Given the description of an element on the screen output the (x, y) to click on. 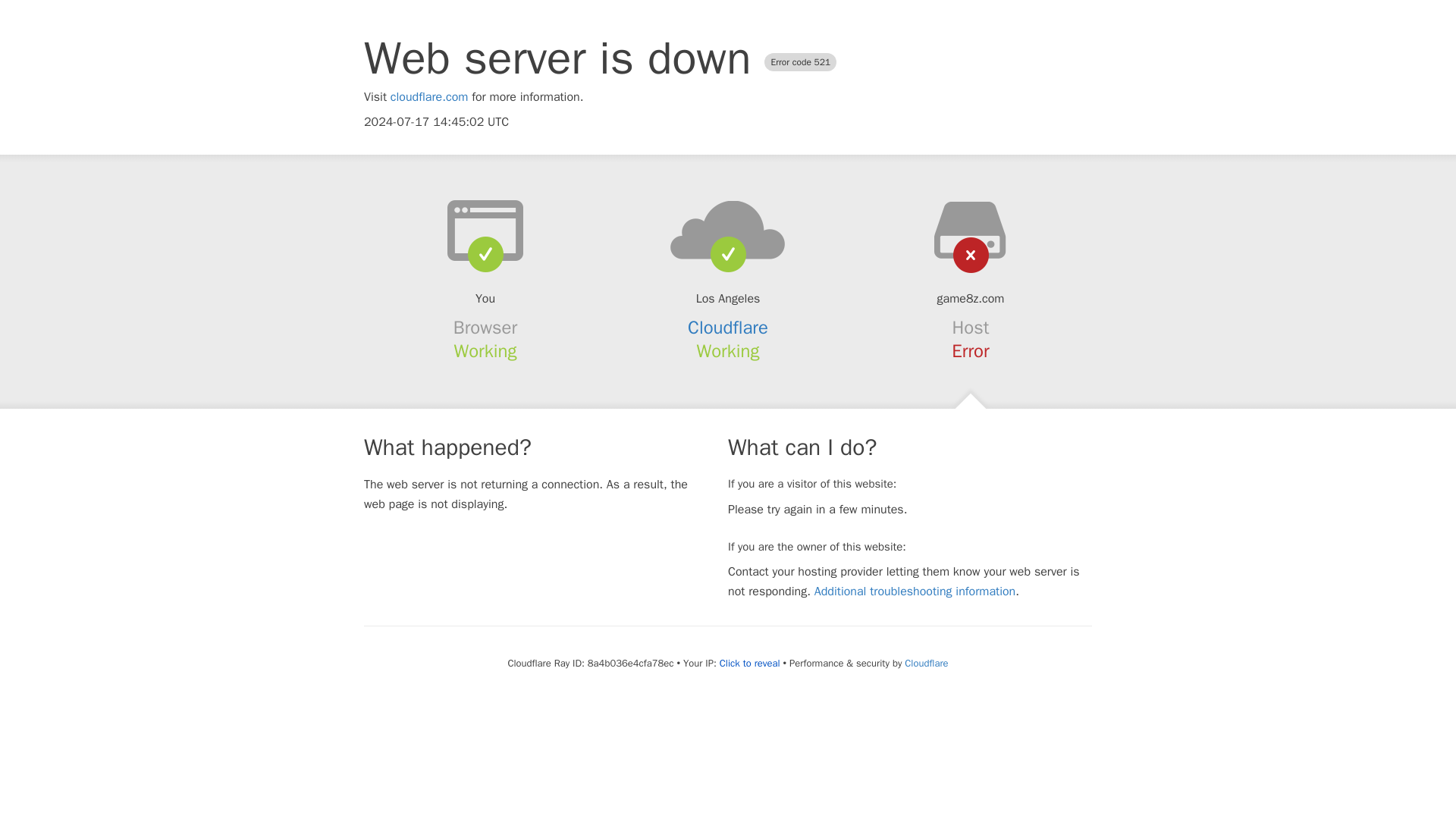
Click to reveal (749, 663)
Additional troubleshooting information (913, 590)
cloudflare.com (429, 96)
Cloudflare (727, 327)
Cloudflare (925, 662)
